Given the description of an element on the screen output the (x, y) to click on. 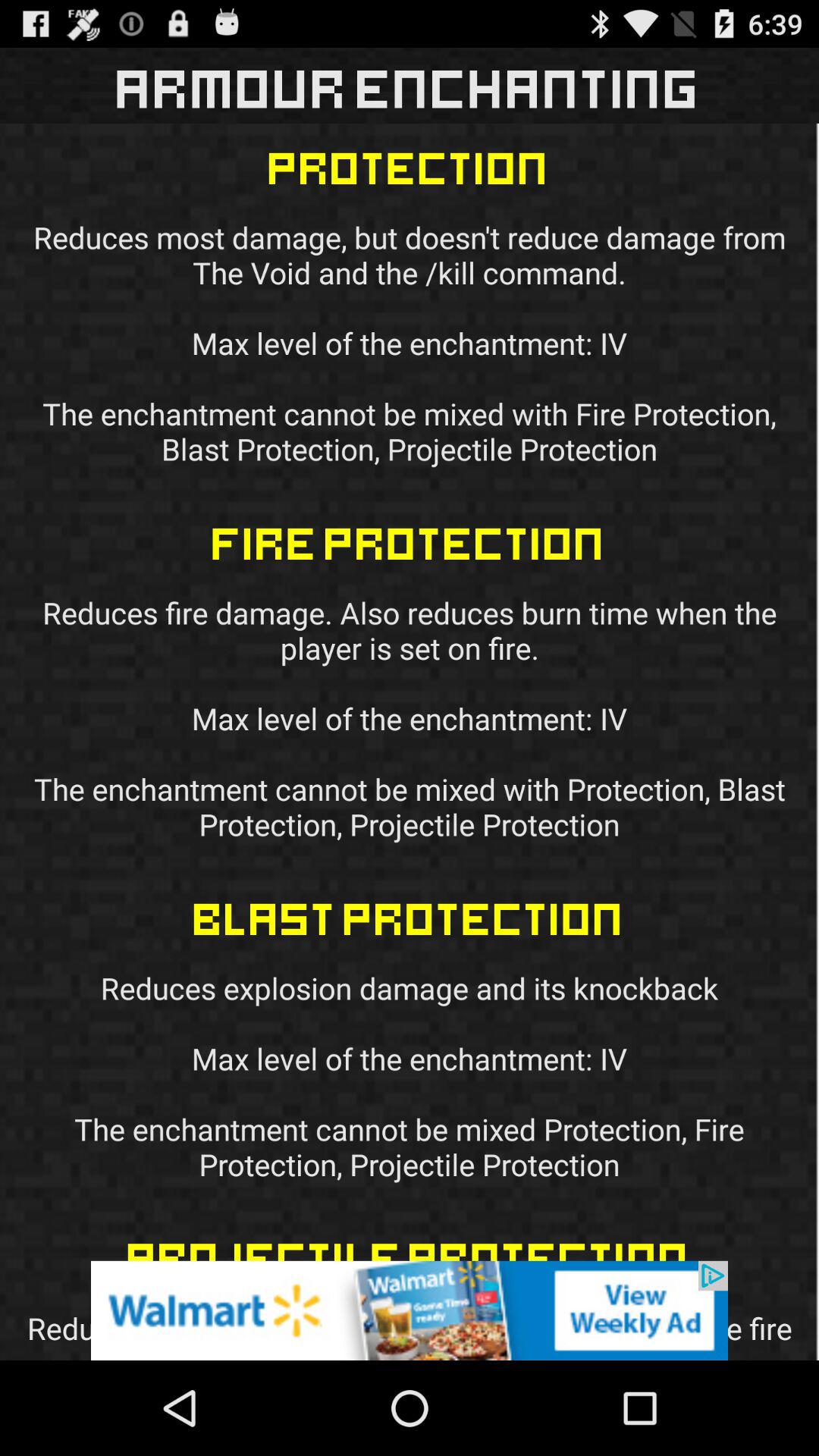
open advertisements (409, 1310)
